Given the description of an element on the screen output the (x, y) to click on. 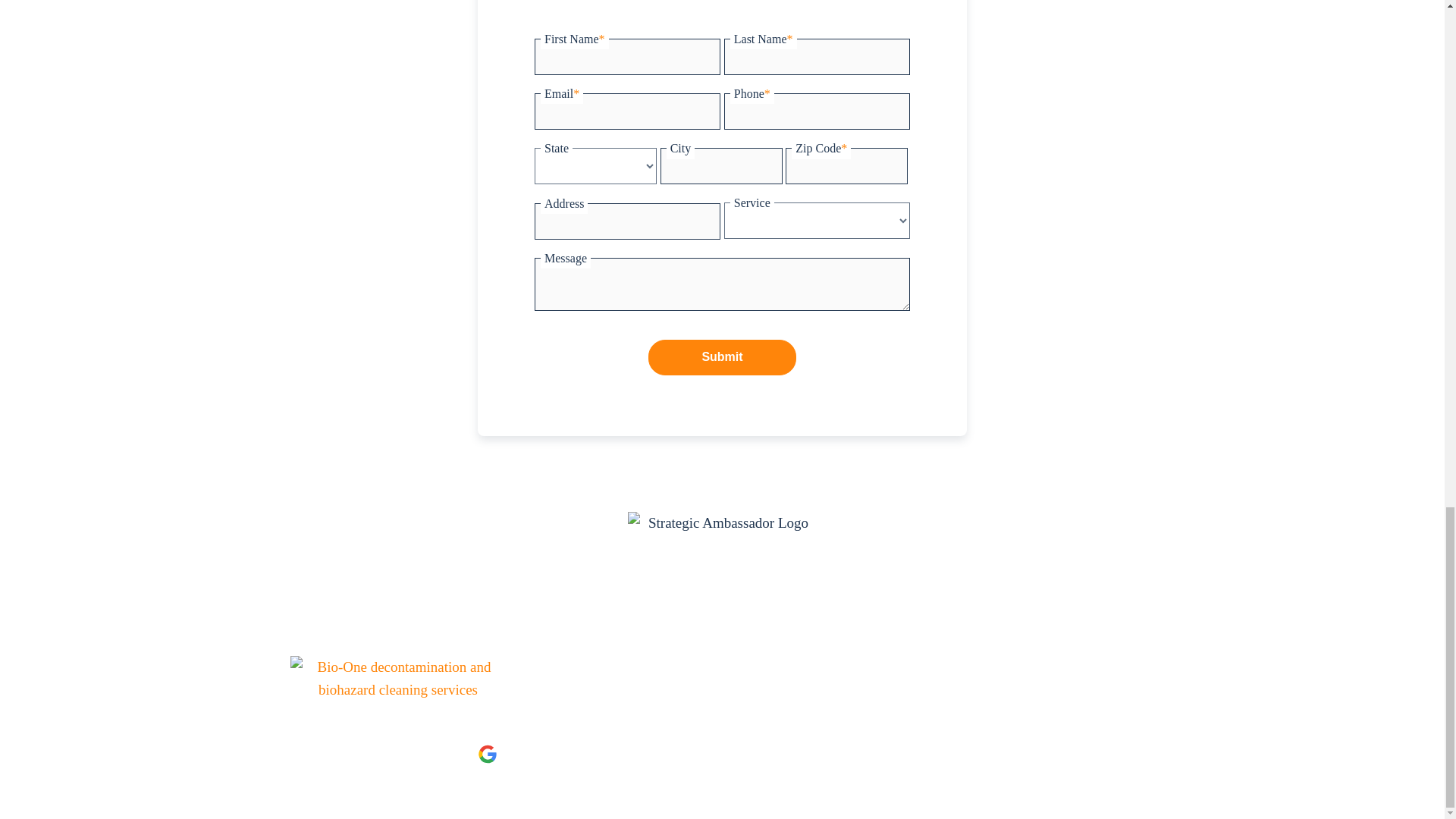
Services (535, 675)
Own a Franchise (657, 684)
Submit (721, 356)
Find a Location (741, 684)
Submit (721, 356)
About (589, 675)
Blog (804, 675)
